Given the description of an element on the screen output the (x, y) to click on. 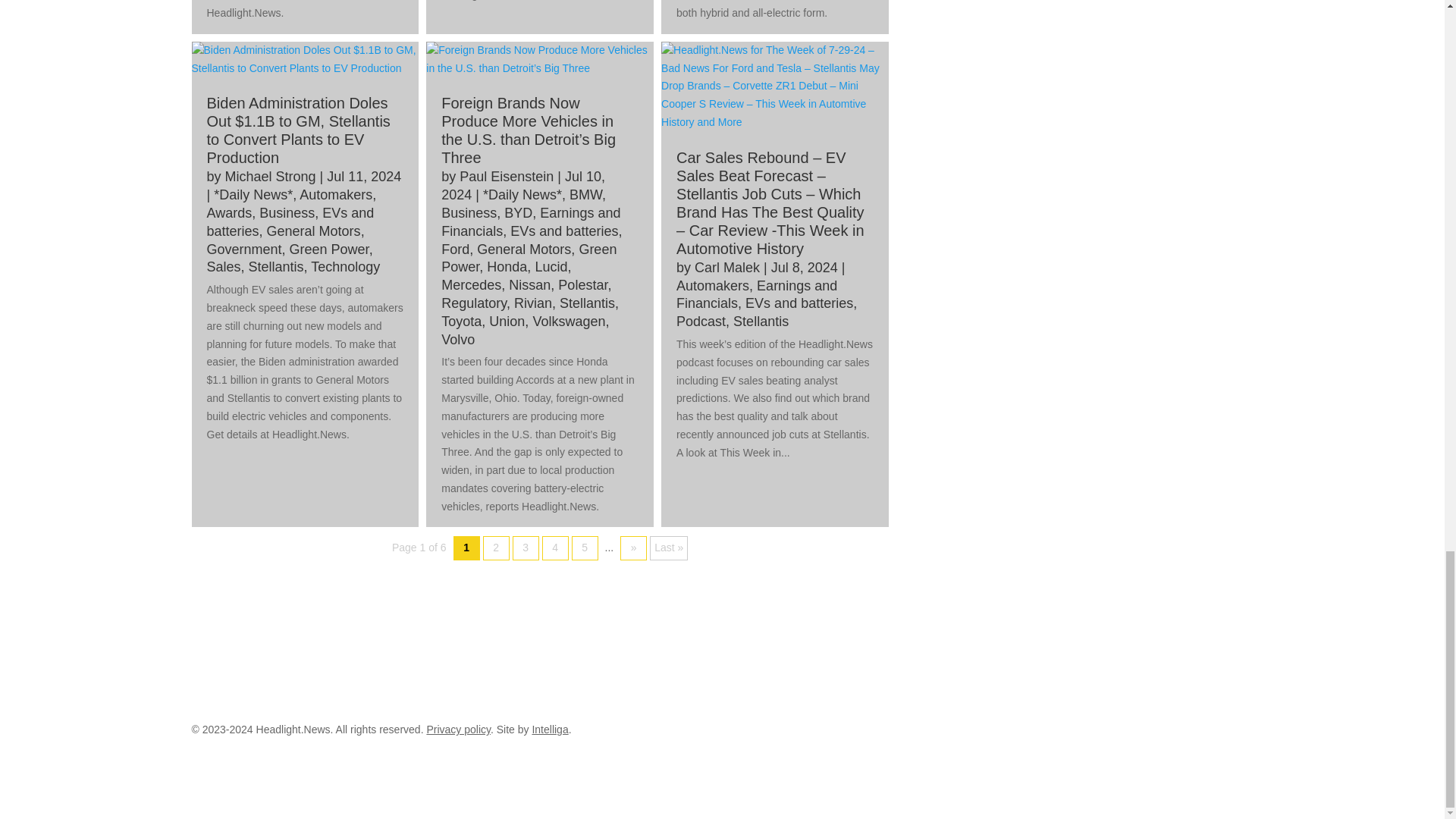
Posts by Paul Eisenstein (506, 176)
Posts by Carl Malek (727, 267)
Posts by Michael Strong (270, 176)
Page 3 (525, 548)
Page 2 (496, 548)
